Given the description of an element on the screen output the (x, y) to click on. 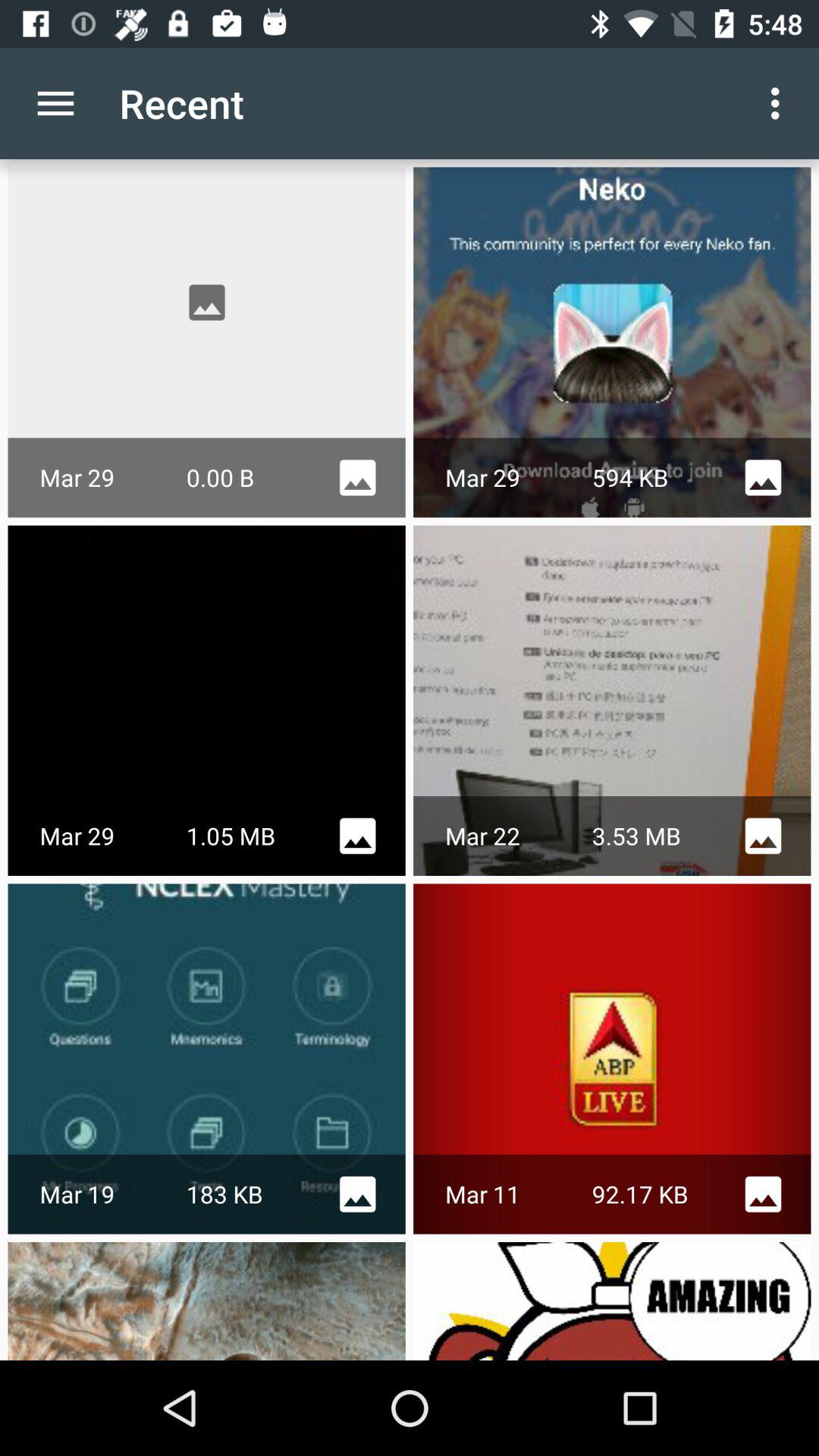
select icon to the left of the recent (55, 103)
